Given the description of an element on the screen output the (x, y) to click on. 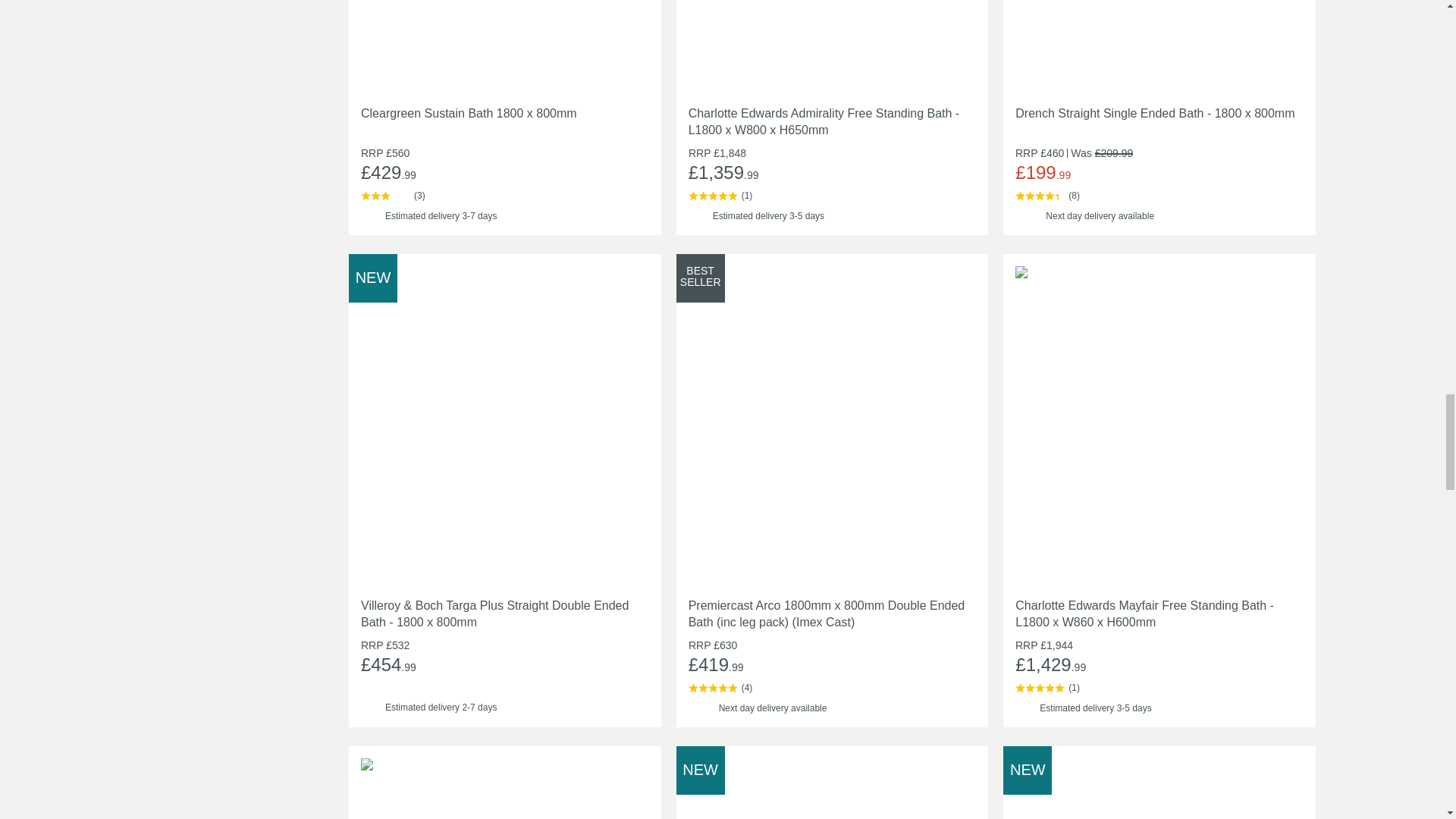
Recommended Retail Price (1025, 152)
Recommended Retail Price (371, 152)
Recommended Retail Price (699, 152)
Recommended Retail Price (371, 645)
